Given the description of an element on the screen output the (x, y) to click on. 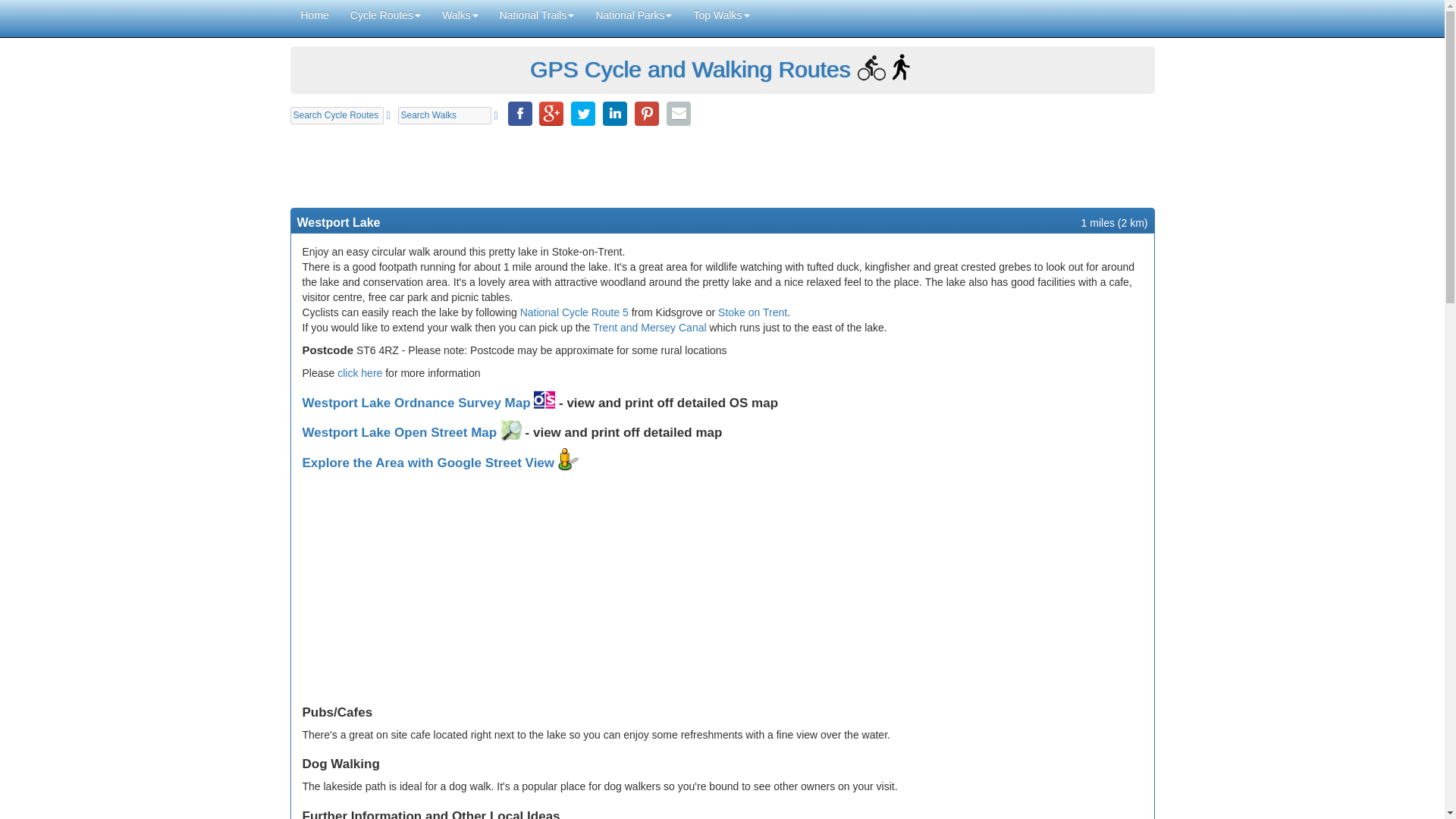
National Trails (537, 15)
Walks (459, 15)
Advertisement (721, 165)
Home (314, 15)
Cycle Routes (384, 15)
